Given the description of an element on the screen output the (x, y) to click on. 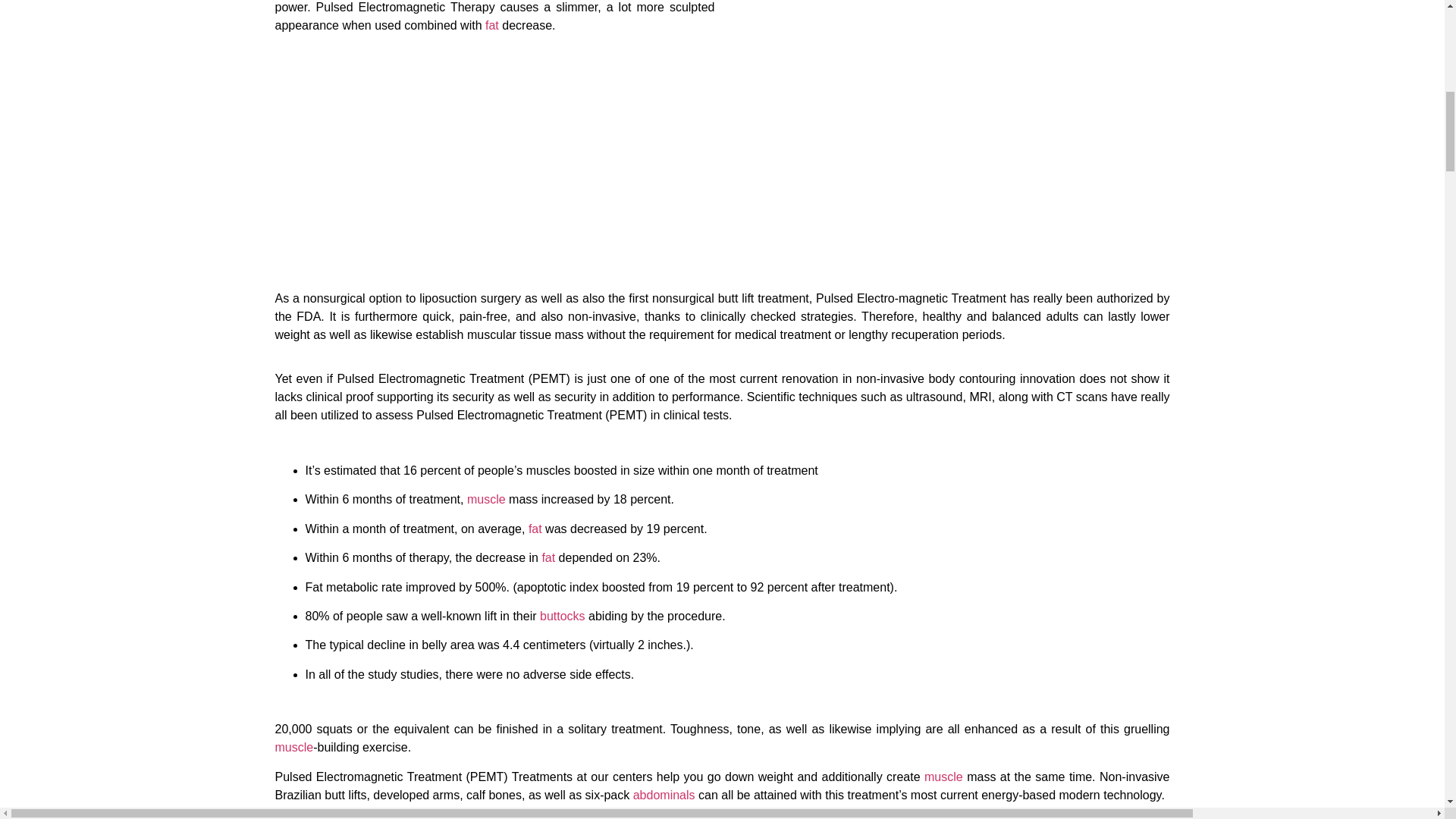
muscle (294, 747)
fat (547, 557)
muscle (486, 499)
fat (534, 528)
muscle (943, 776)
abdominals (664, 794)
buttocks (562, 615)
fat (491, 24)
